Given the description of an element on the screen output the (x, y) to click on. 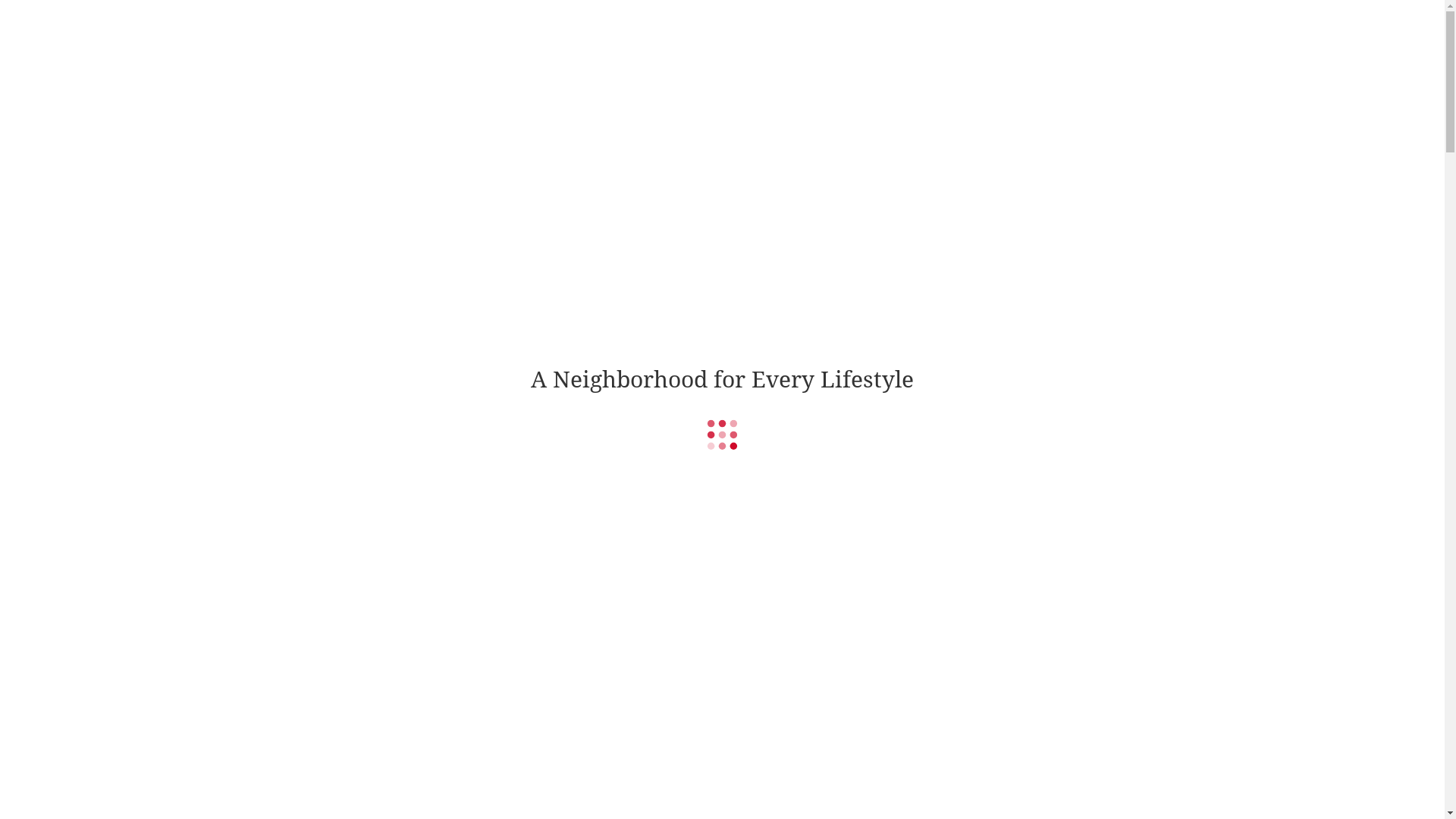
SCHEDULE & CONTACT Element type: text (945, 37)
FLOOR PLANS Element type: text (702, 37)
2118 GRANT STREET Element type: text (722, 511)
FEATURES Element type: text (779, 37)
GALLERY Element type: text (630, 37)
2118 Grant Street Element type: text (371, 34)
LOCATION Element type: text (847, 37)
